Given the description of an element on the screen output the (x, y) to click on. 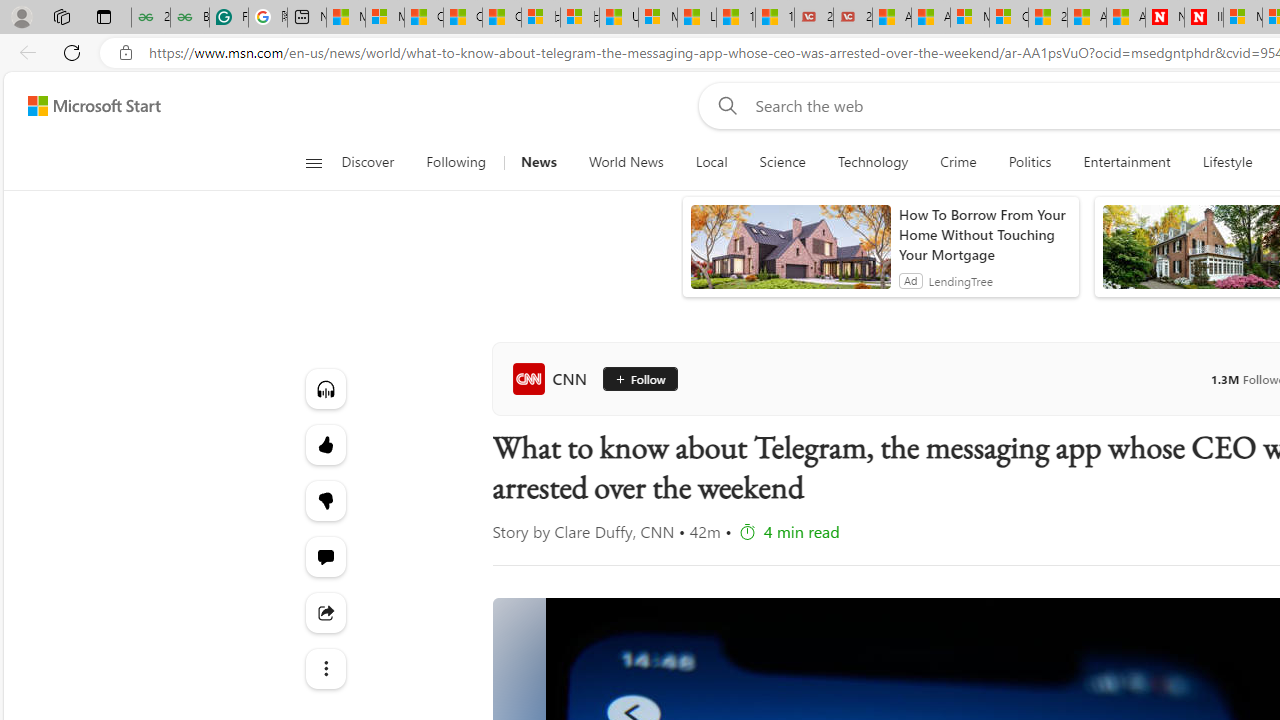
25 Basic Linux Commands For Beginners - GeeksforGeeks (150, 17)
Cloud Computing Services | Microsoft Azure (1008, 17)
Class: at-item (324, 668)
20 Ways to Boost Your Protein Intake at Every Meal (1048, 17)
21 Movies That Outdid the Books They Were Based On (852, 17)
